Given the description of an element on the screen output the (x, y) to click on. 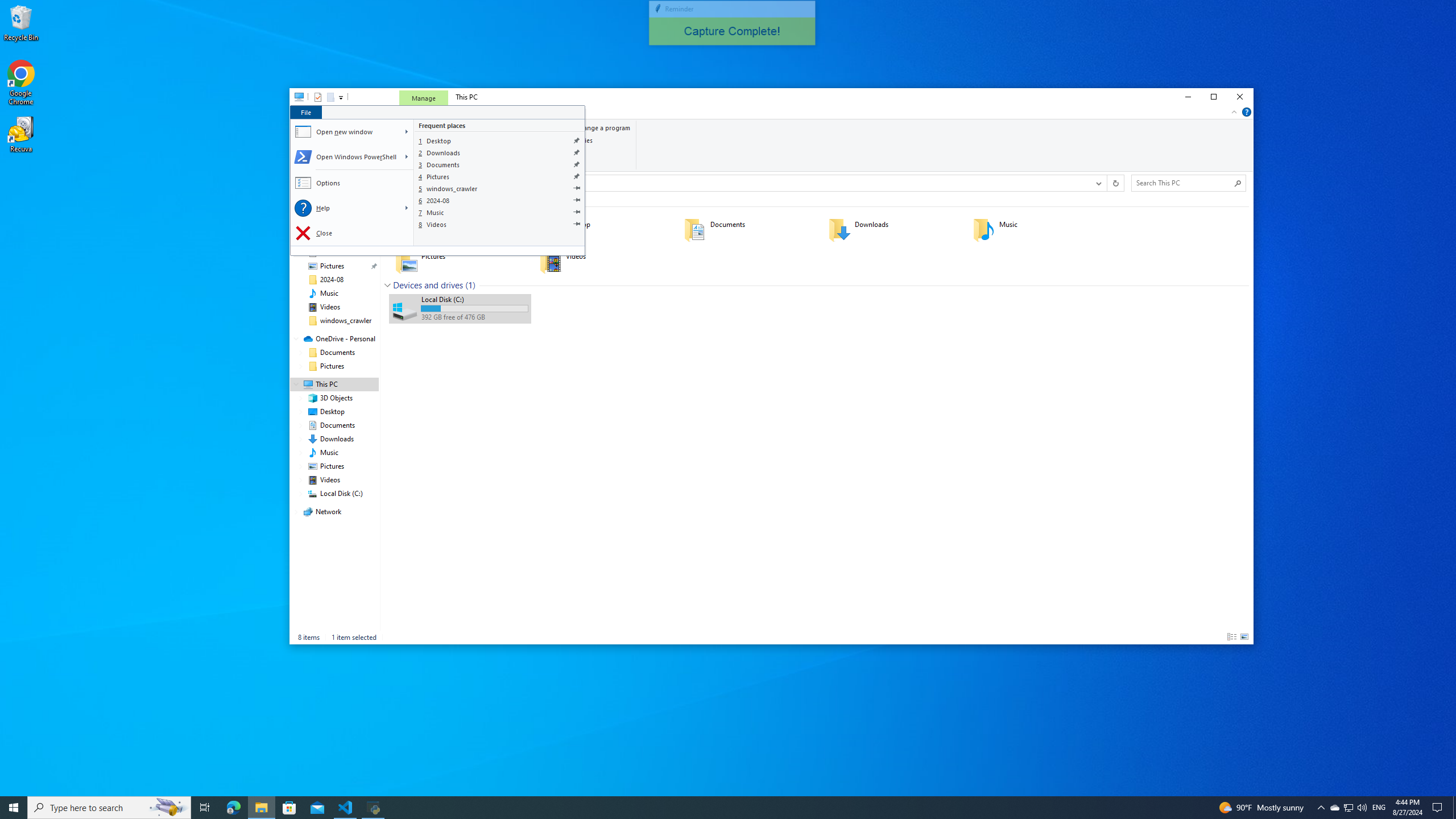
2024-08 (499, 200)
File tab (305, 111)
Tray Input Indicator - English (United States) (1378, 807)
Open new window (345, 131)
Documents (499, 164)
windows_crawler (499, 188)
Options (352, 182)
Running applications (706, 807)
File Explorer - 1 running window (261, 807)
